Given the description of an element on the screen output the (x, y) to click on. 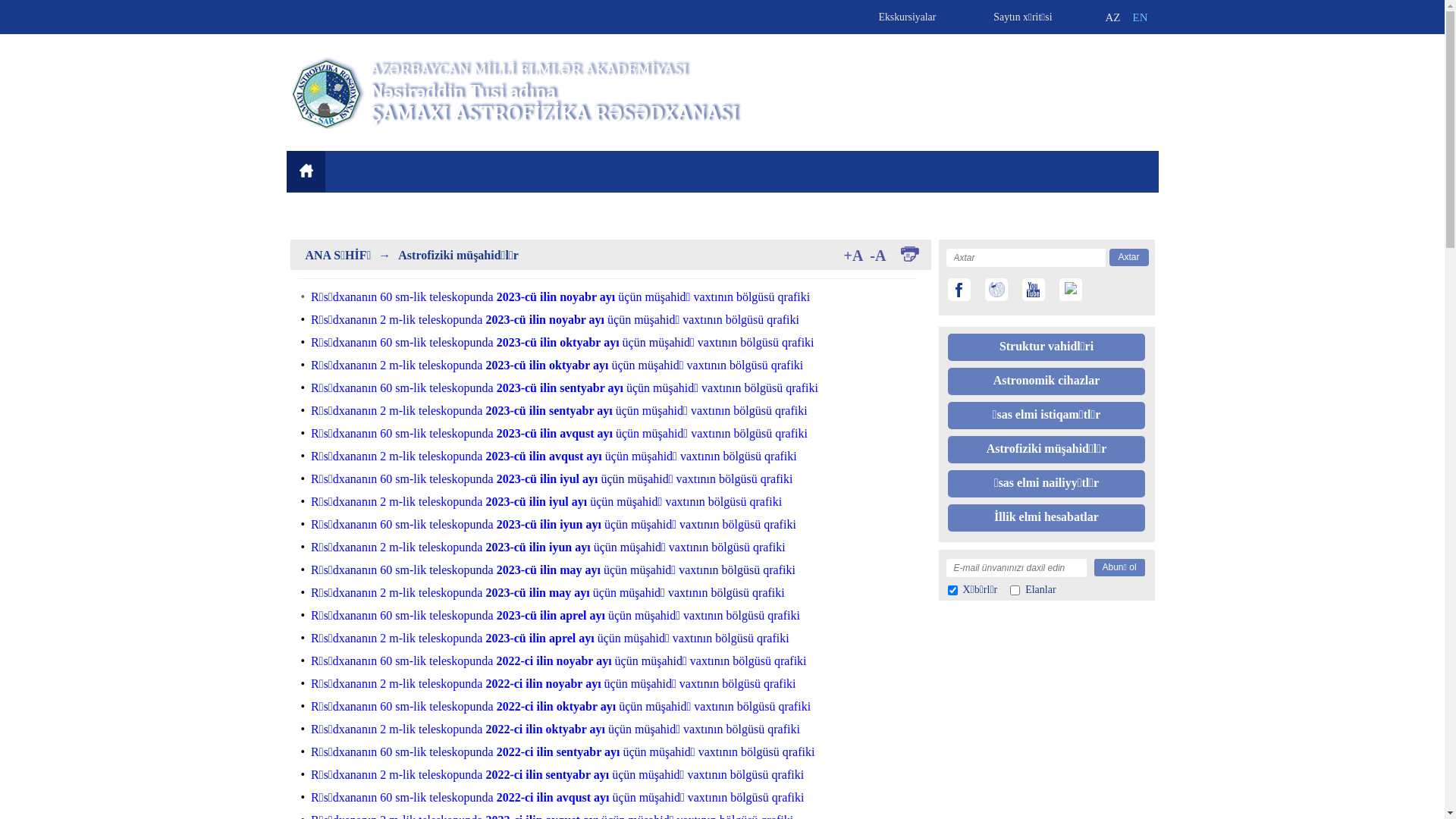
+A Element type: text (852, 255)
Ekskursiyalar Element type: text (896, 13)
EN Element type: text (1143, 17)
Axtar Element type: text (1128, 257)
AZ Element type: text (1116, 22)
-A Element type: text (877, 255)
Astronomik cihazlar Element type: text (1046, 382)
